Given the description of an element on the screen output the (x, y) to click on. 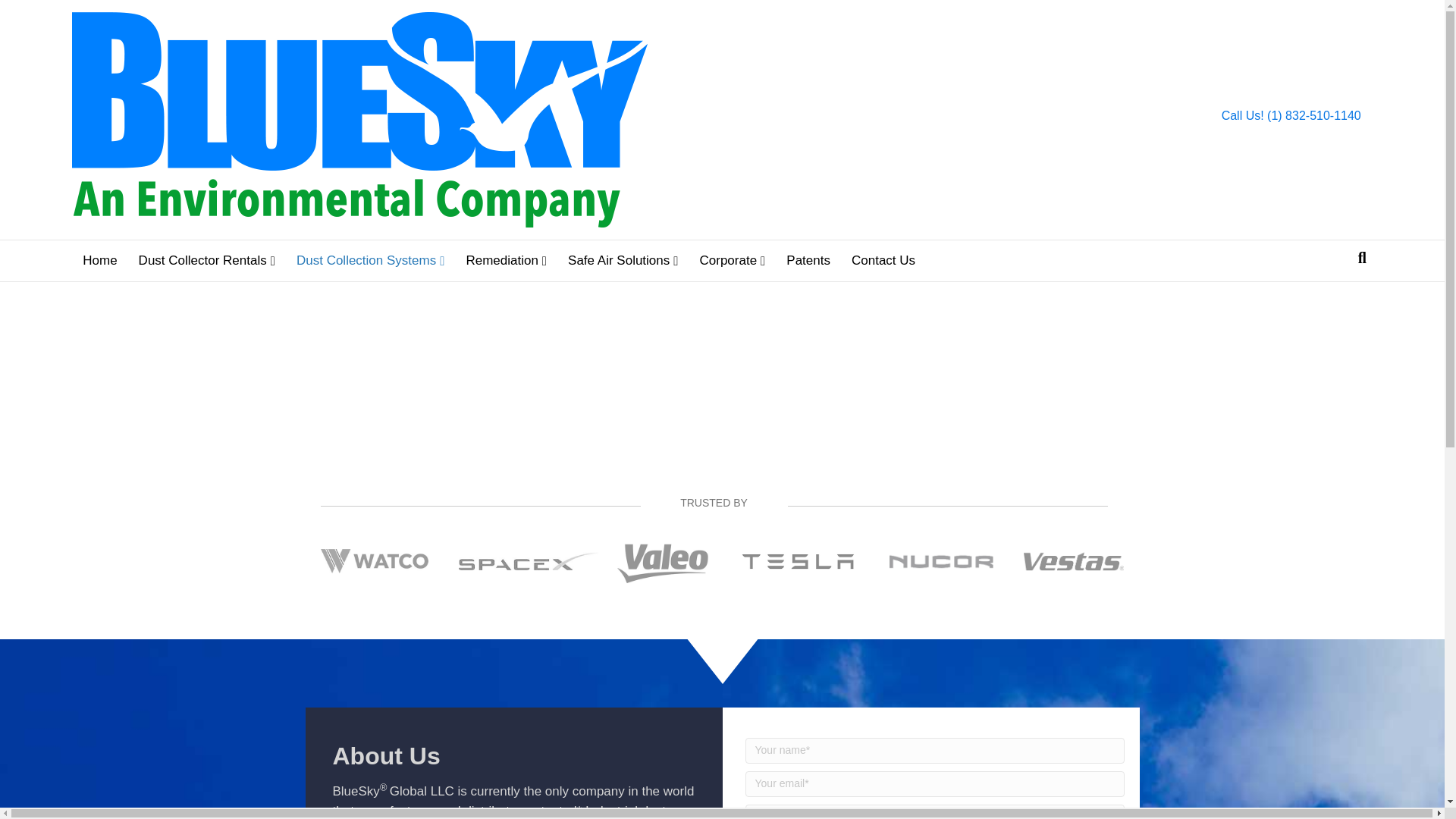
Remediation (505, 260)
Home (99, 260)
Safe Air Solutions (622, 260)
Corporate (732, 260)
sp-2 (528, 561)
n-company (940, 561)
images-vestas (1073, 561)
Logo-W-2 (374, 560)
Dust Collection Systems (369, 260)
Contact Us (883, 260)
